Given the description of an element on the screen output the (x, y) to click on. 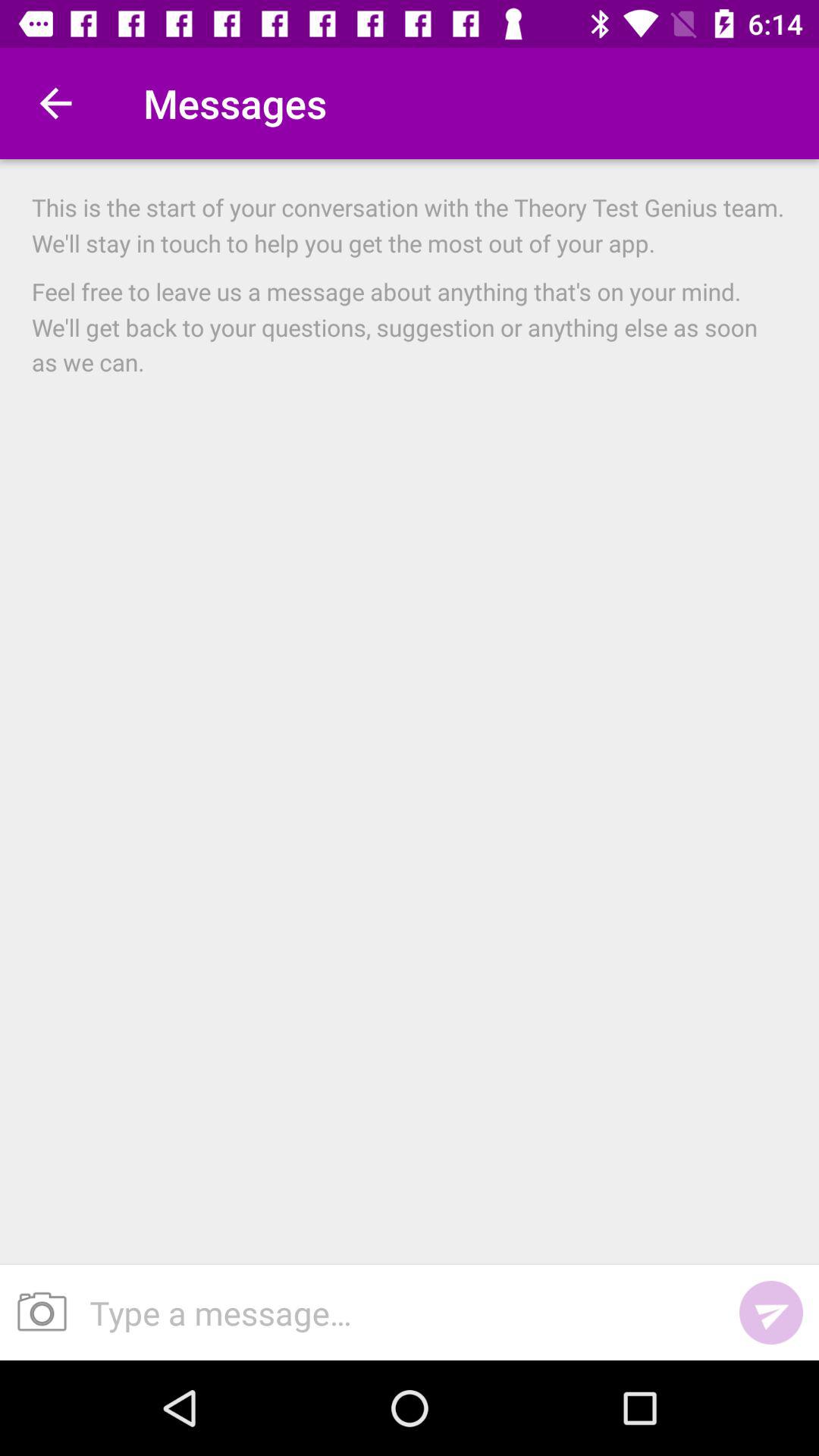
scroll to this is the (409, 225)
